Given the description of an element on the screen output the (x, y) to click on. 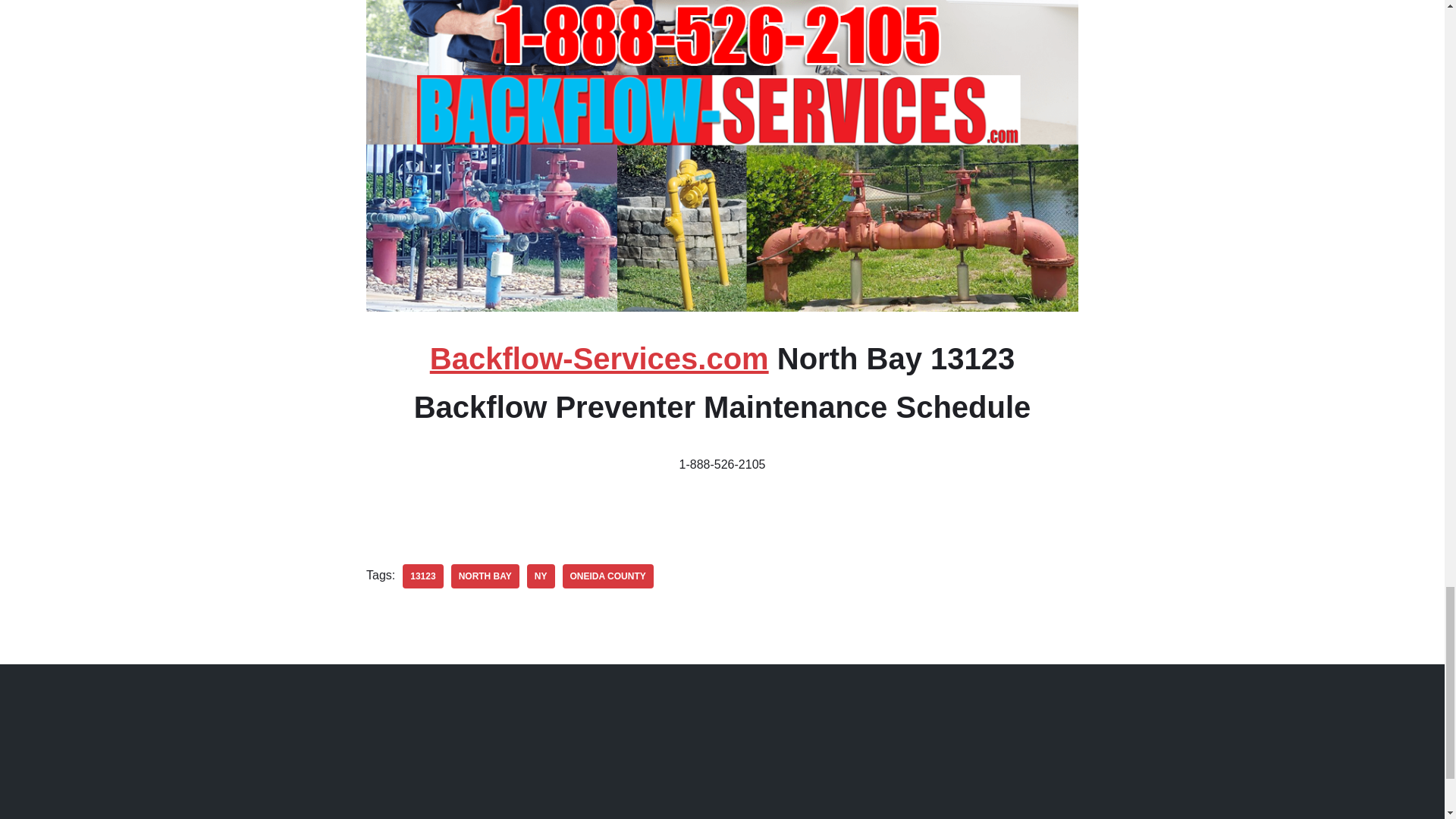
NY (540, 576)
NY (540, 576)
ONEIDA COUNTY (607, 576)
Backflow-Services.com (598, 358)
Oneida County (607, 576)
13123 (422, 576)
NORTH BAY (485, 576)
13123 (422, 576)
North Bay (485, 576)
